Given the description of an element on the screen output the (x, y) to click on. 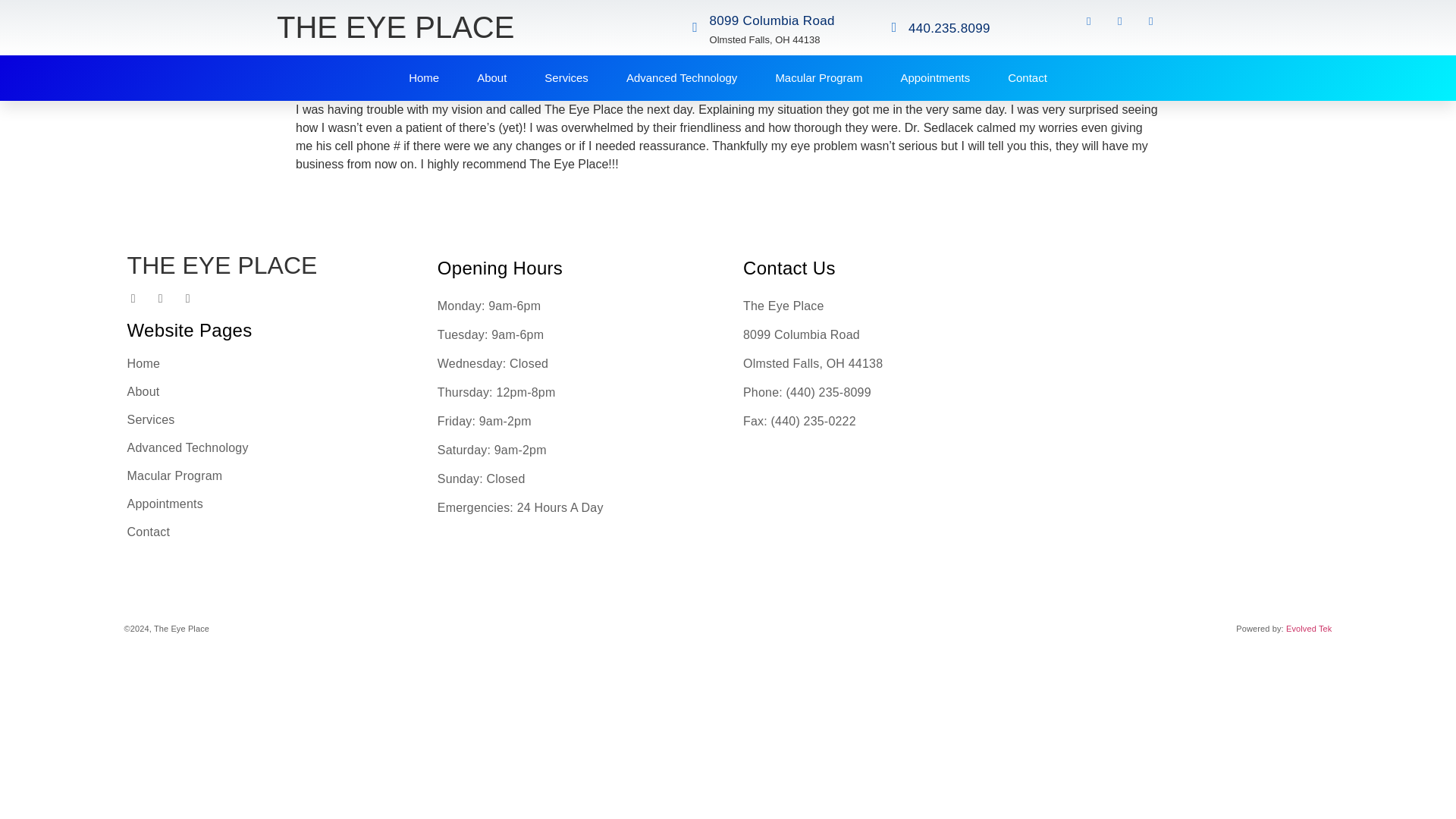
Services (566, 77)
 8099 Columbia Road Olmsted Falls, OH 44138 (1185, 371)
Appointments (270, 504)
Appointments (934, 77)
Advanced Technology (682, 77)
Macular Program (270, 476)
Home (270, 364)
Advanced Technology (270, 448)
Services (270, 419)
About (270, 391)
Contact (270, 531)
Evolved Tek (1308, 628)
Macular Program (817, 77)
